Given the description of an element on the screen output the (x, y) to click on. 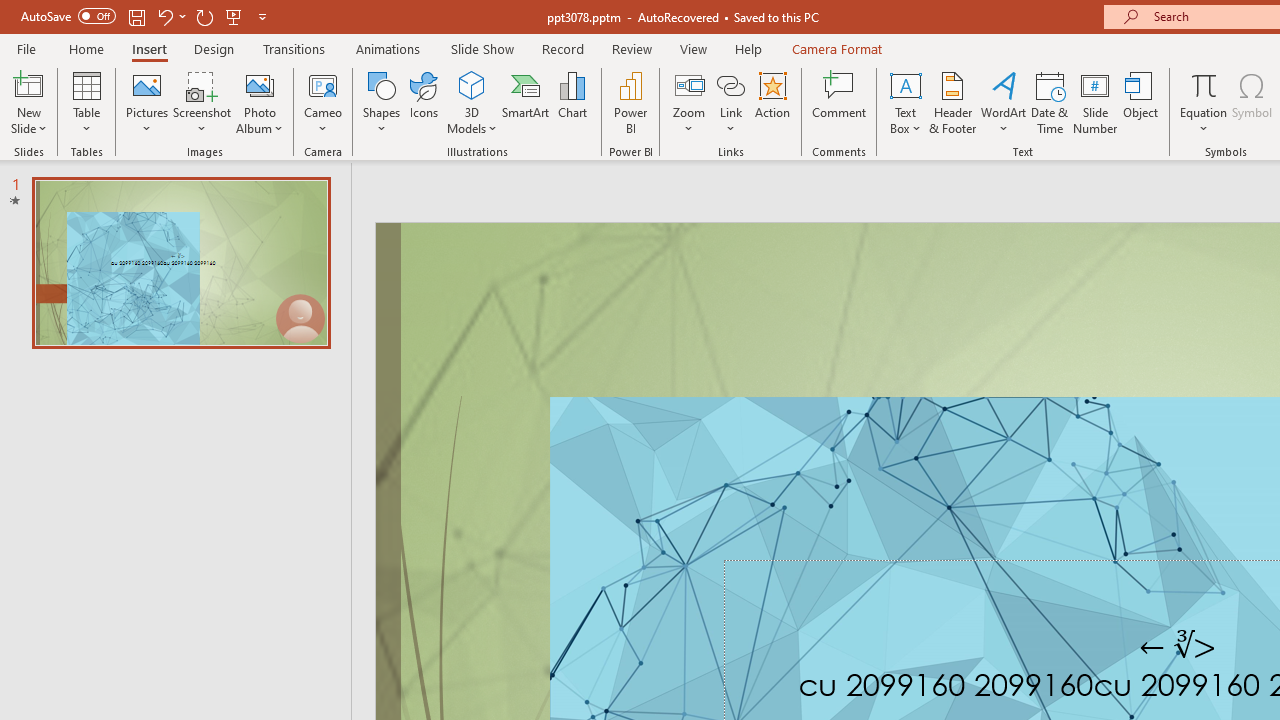
TextBox 7 (1178, 646)
WordArt (1004, 102)
Comment (839, 102)
Power BI (630, 102)
Symbol... (1252, 102)
Screenshot (202, 102)
Action (772, 102)
New Photo Album... (259, 84)
3D Models (472, 84)
